Given the description of an element on the screen output the (x, y) to click on. 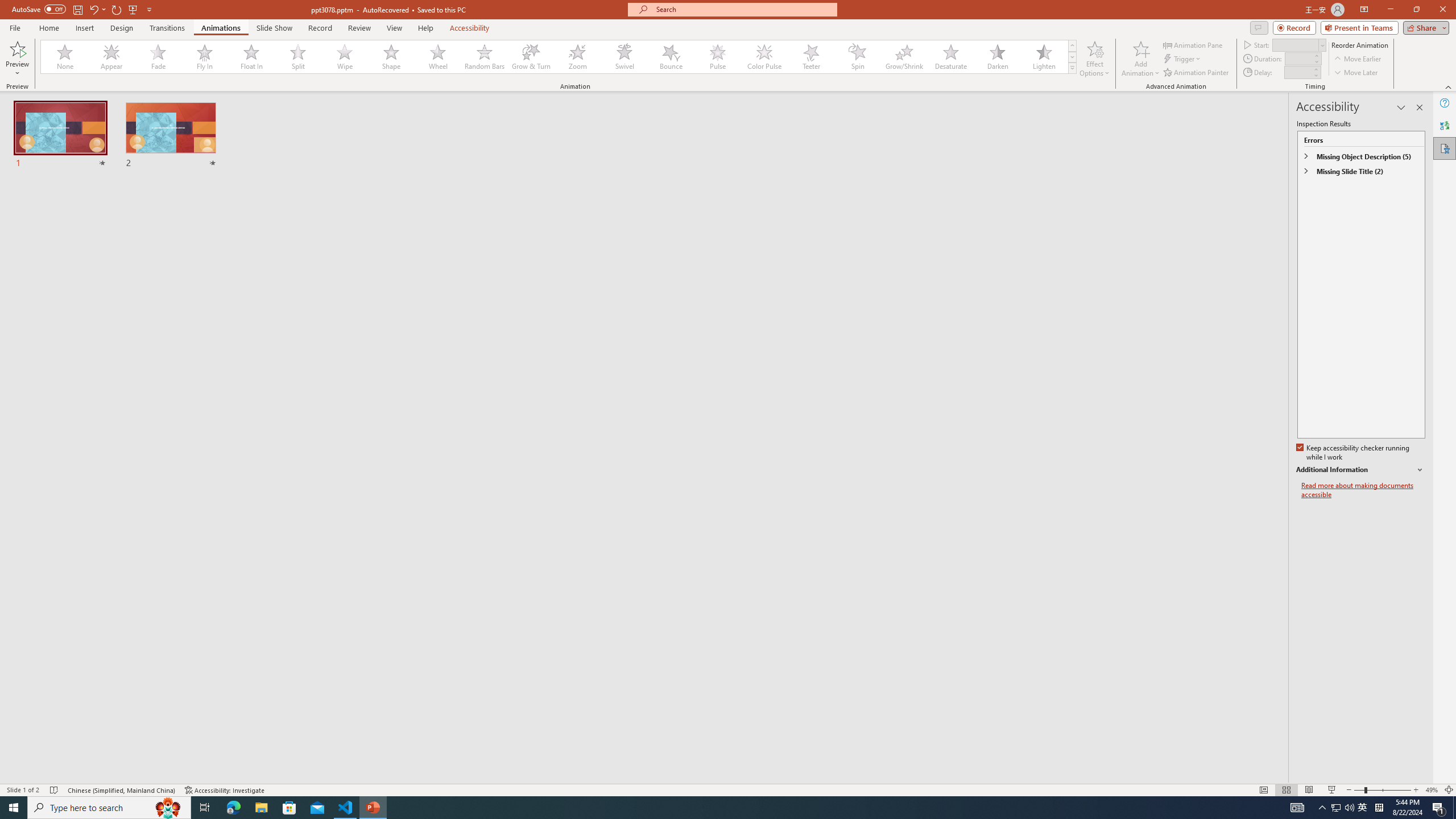
Lighten (1043, 56)
Split (298, 56)
Pulse (717, 56)
Animation Pane (1193, 44)
